Given the description of an element on the screen output the (x, y) to click on. 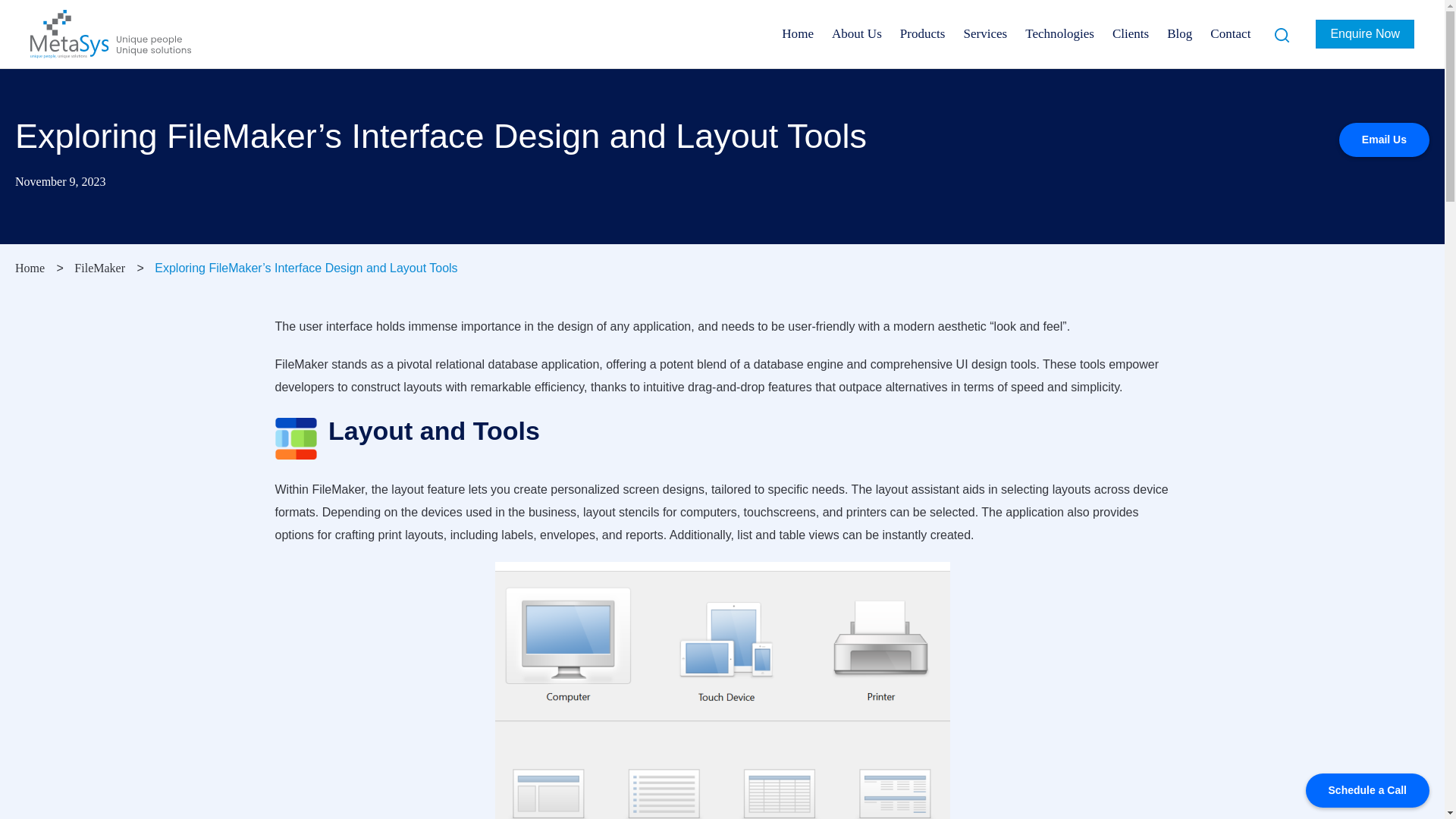
Technologies (1059, 33)
Services (984, 33)
Enquire Now (1364, 33)
About Us (856, 33)
FileMaker (99, 267)
Products (923, 33)
Home (29, 267)
